Given the description of an element on the screen output the (x, y) to click on. 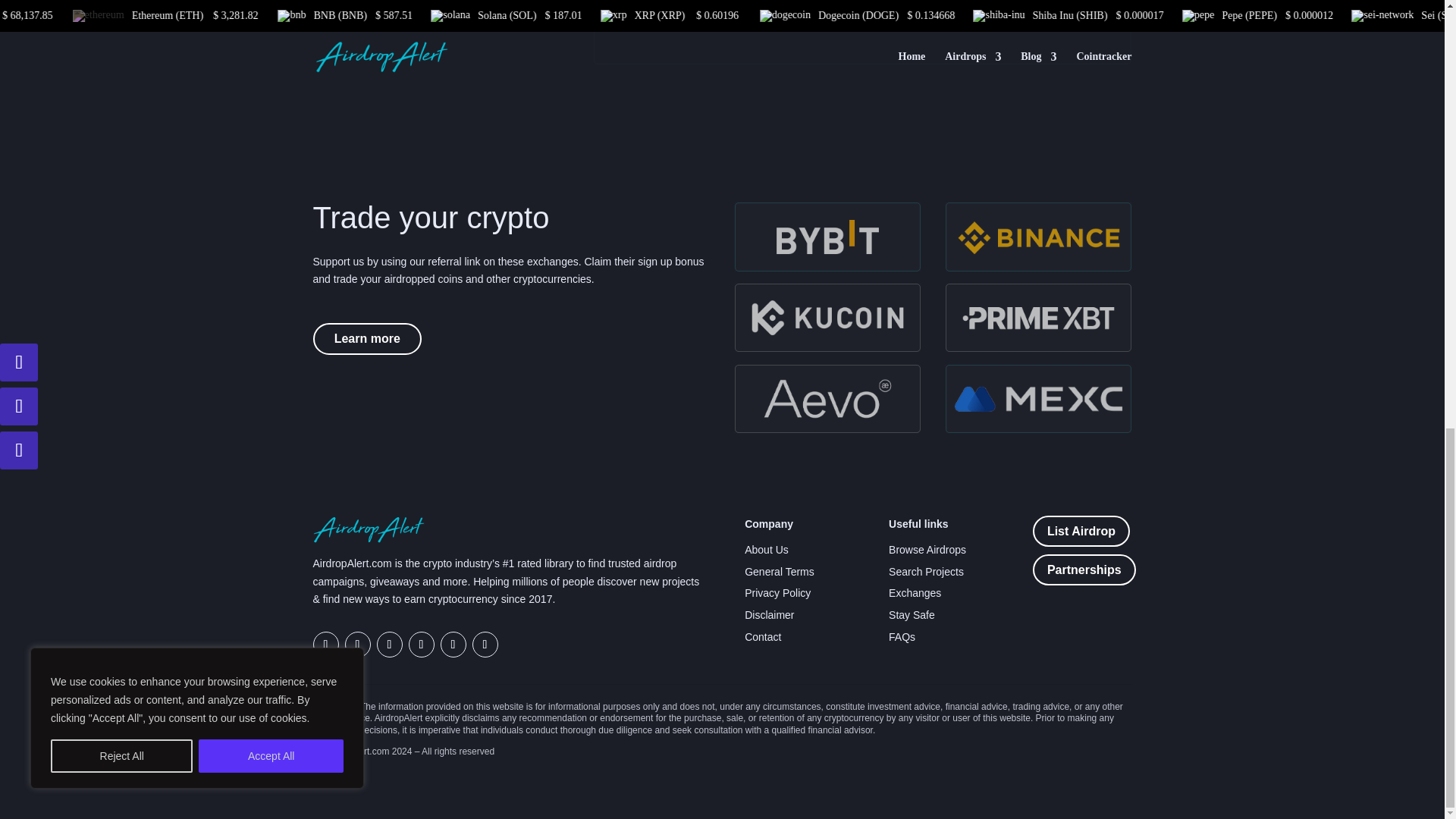
airdrop-alert-logo (369, 529)
airdropalert-bybit-logo (827, 236)
Airdropalert-Binance-logo (1038, 236)
Follow on X (356, 644)
Follow on Facebook (388, 644)
AA-logos-exchanges-kucoin (827, 317)
Follow on Telegram (325, 644)
AA-logos-aevo (827, 398)
Follow on LinkedIn (484, 644)
Follow on Instagram (420, 644)
Follow on Youtube (452, 644)
prime-xbt-logo-airdropalert (1038, 317)
mexc-logo-airdropalert (1038, 398)
